Given the description of an element on the screen output the (x, y) to click on. 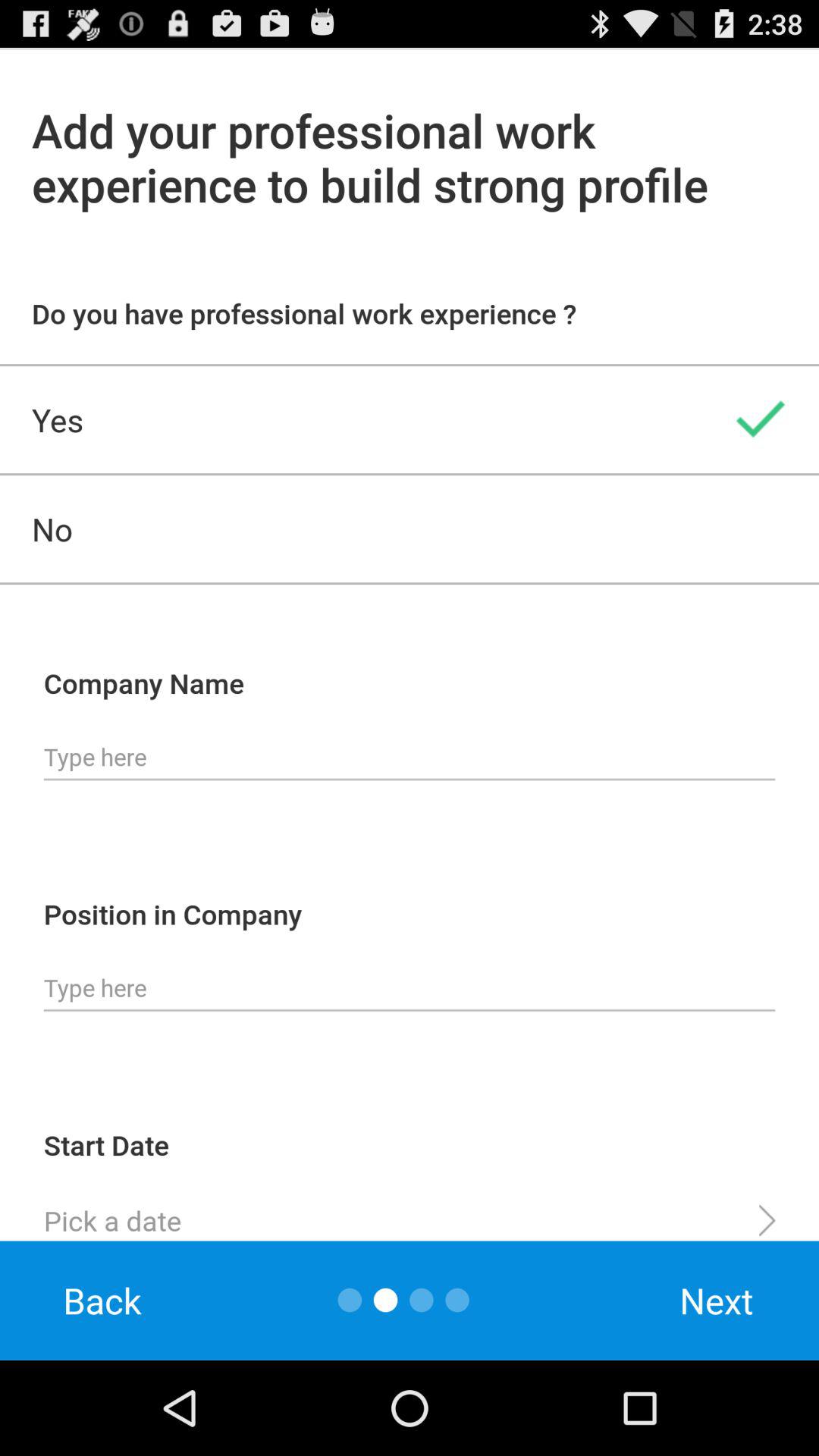
write your position in company (409, 988)
